Given the description of an element on the screen output the (x, y) to click on. 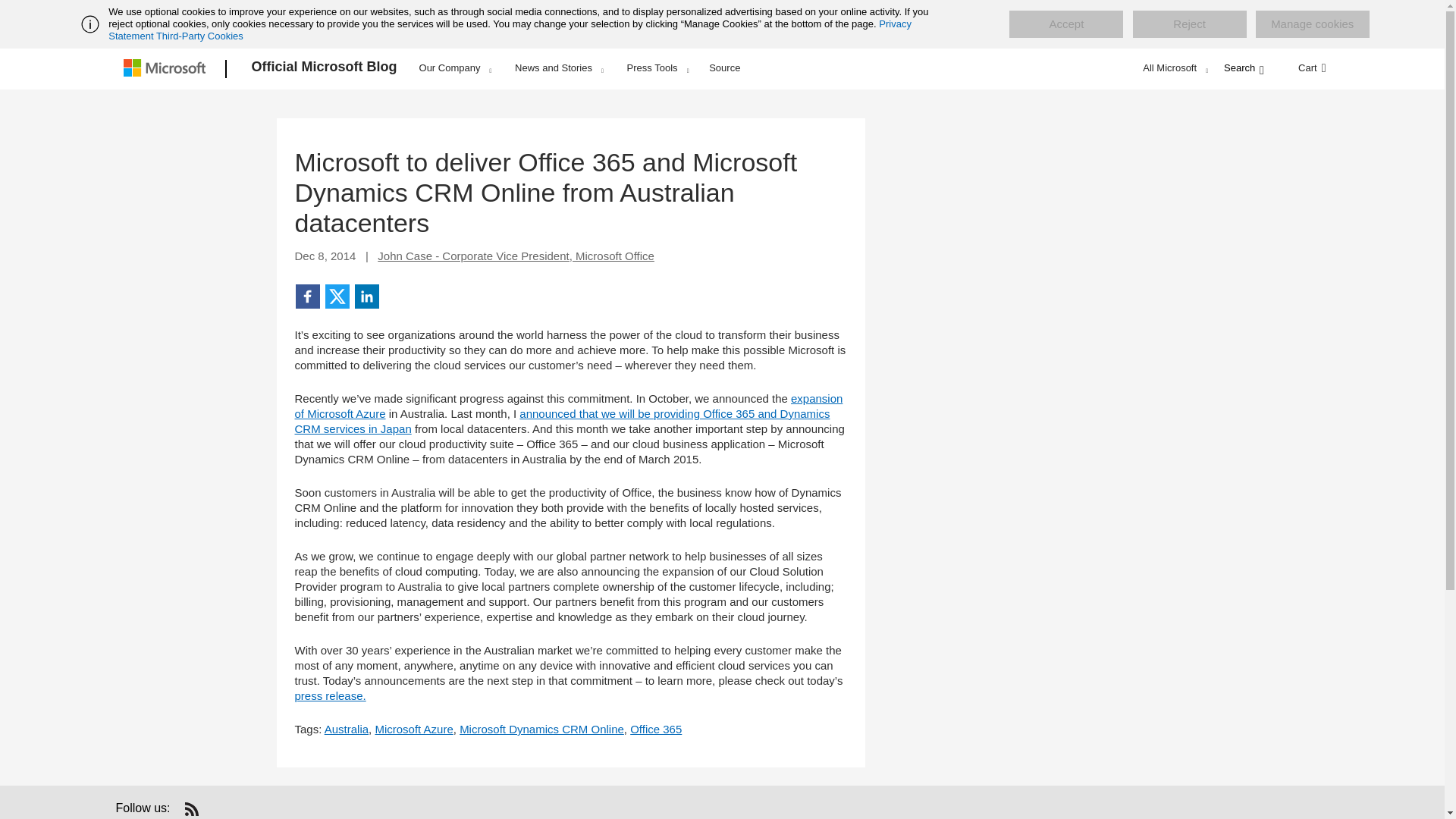
News and Stories (558, 67)
Accept (1065, 23)
Privacy Statement (509, 29)
Manage cookies (1312, 23)
Our Company (454, 67)
December 8, 2014 (324, 255)
Third-Party Cookies (199, 35)
Microsoft (167, 69)
Official Microsoft Blog (324, 69)
RSS Subscription (191, 807)
Reject (1189, 23)
